Given the description of an element on the screen output the (x, y) to click on. 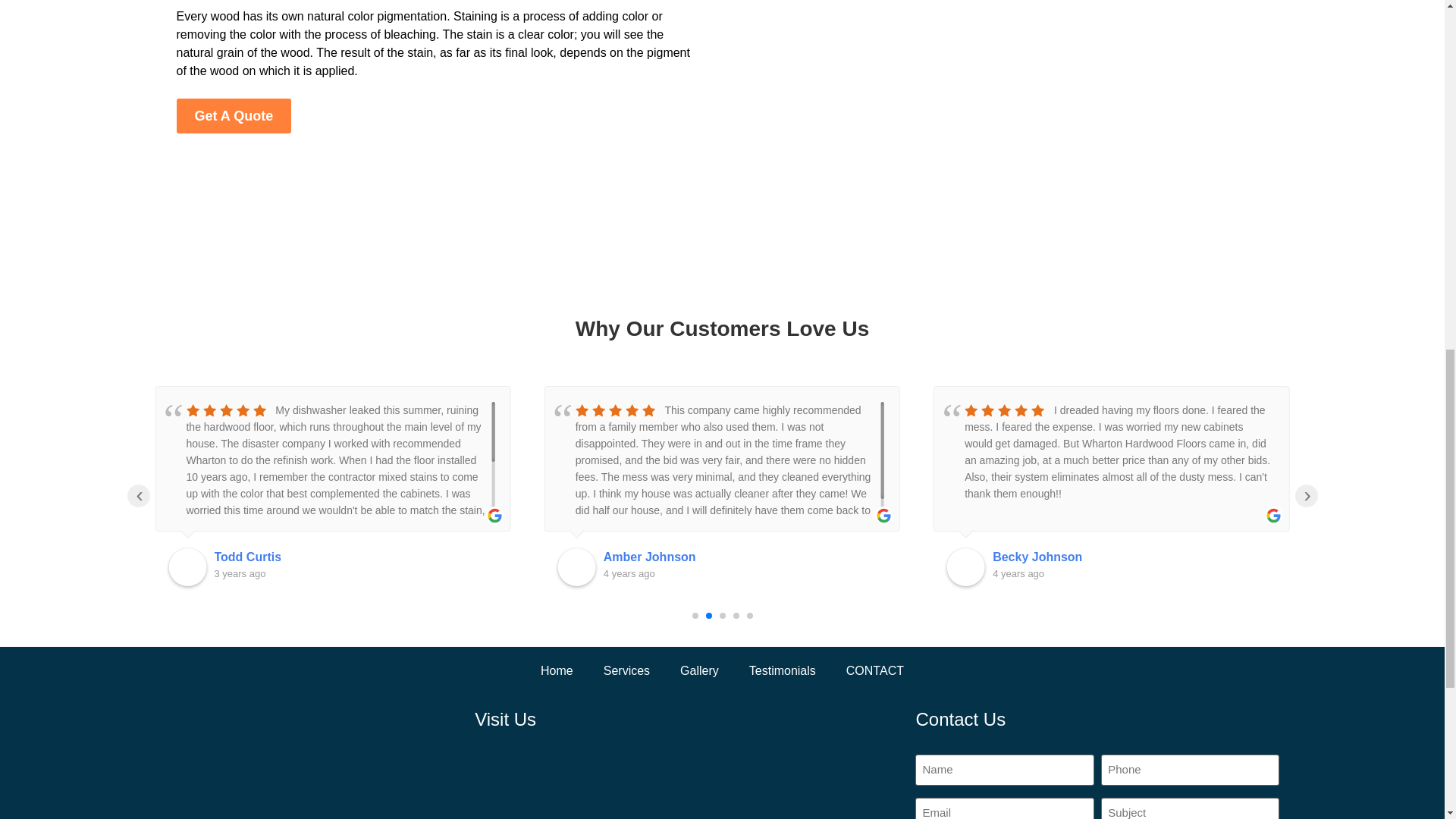
Get A Quote (233, 115)
Becky Johnson (1036, 556)
Todd Curtis (247, 556)
Wharton Hardwood Floors 1235 E 12180 S Sandy, Utah 84094 (686, 781)
Amber Johnson (649, 556)
